Given the description of an element on the screen output the (x, y) to click on. 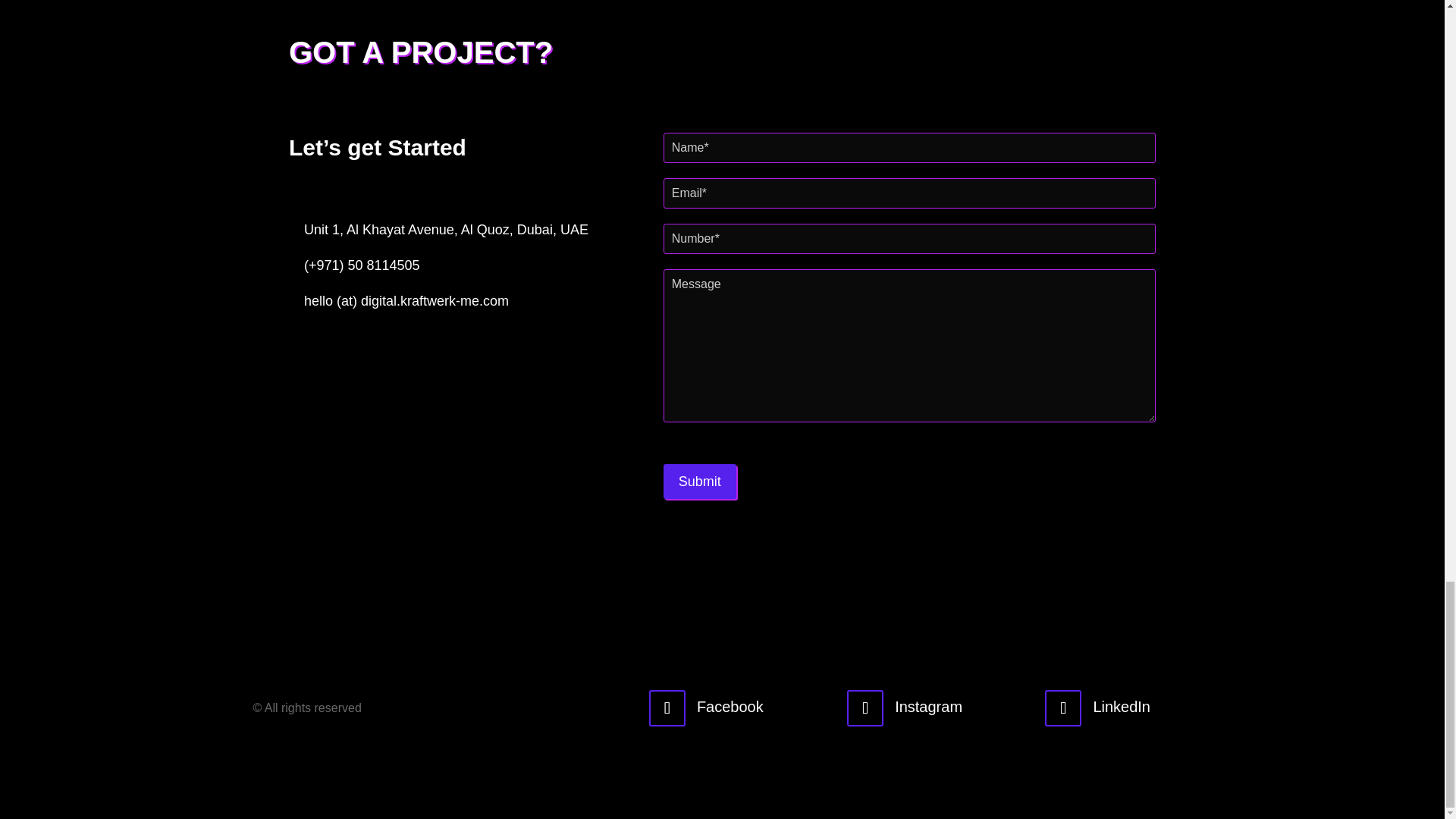
Follow on LinkedIn (1063, 708)
read more (462, 12)
Submit (699, 480)
read more (869, 12)
read more (1275, 12)
Follow on Instagram (865, 708)
Dubai Municipality at GITEX 2023 (1104, 13)
Follow on Facebook (667, 708)
